Given the description of an element on the screen output the (x, y) to click on. 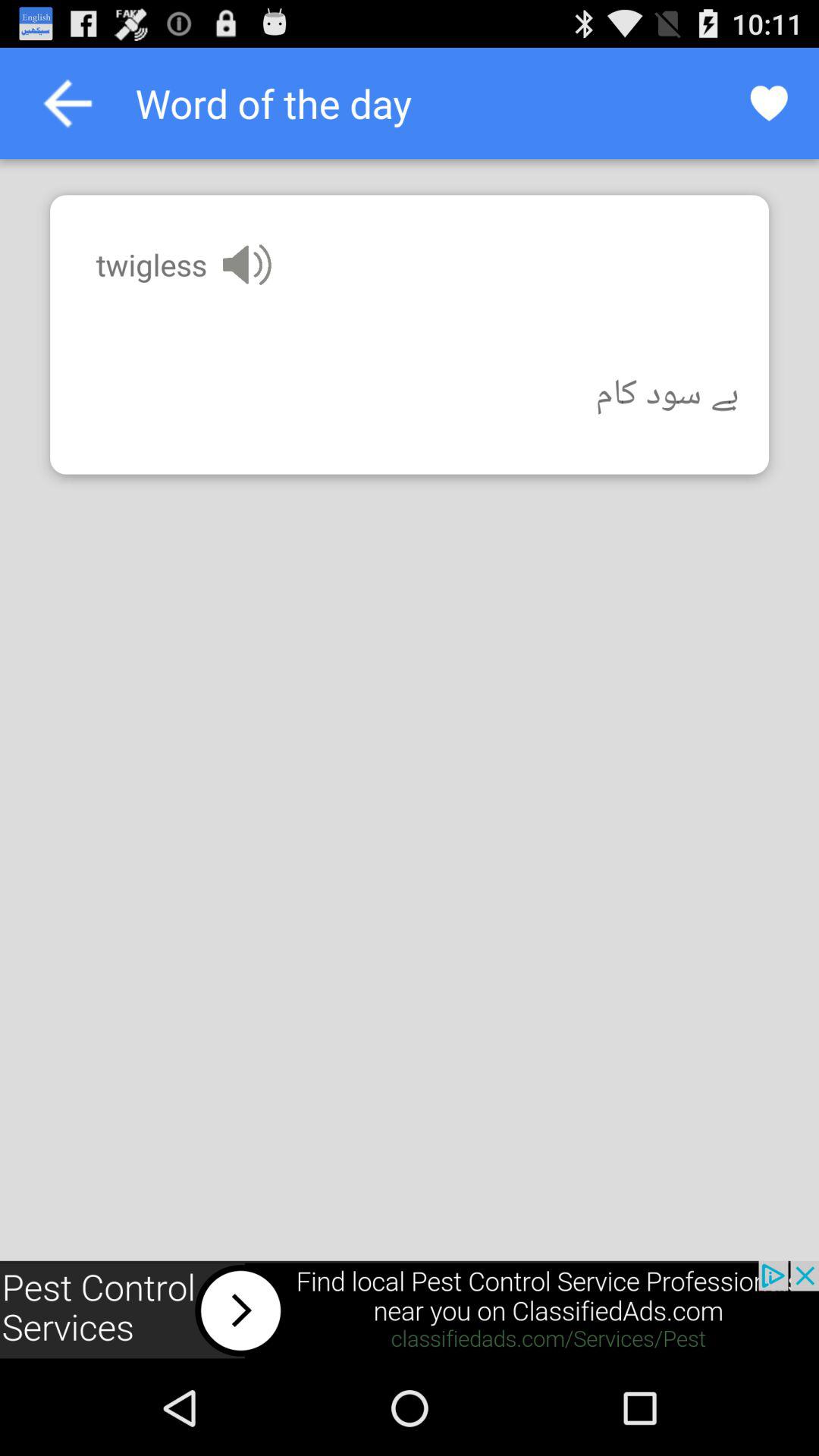
go to previous (67, 103)
